Given the description of an element on the screen output the (x, y) to click on. 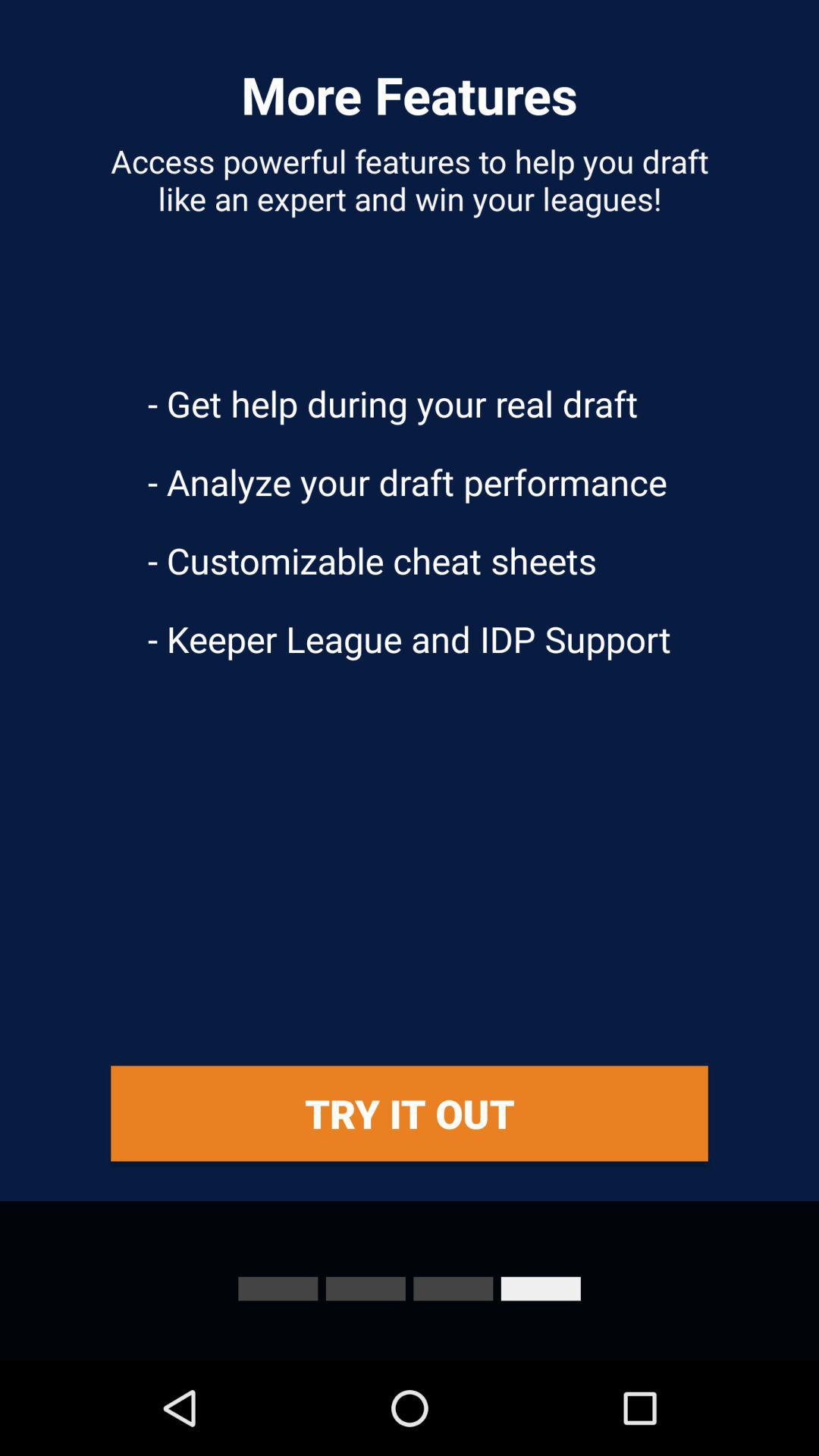
tap the icon below the keeper league and app (409, 1113)
